Given the description of an element on the screen output the (x, y) to click on. 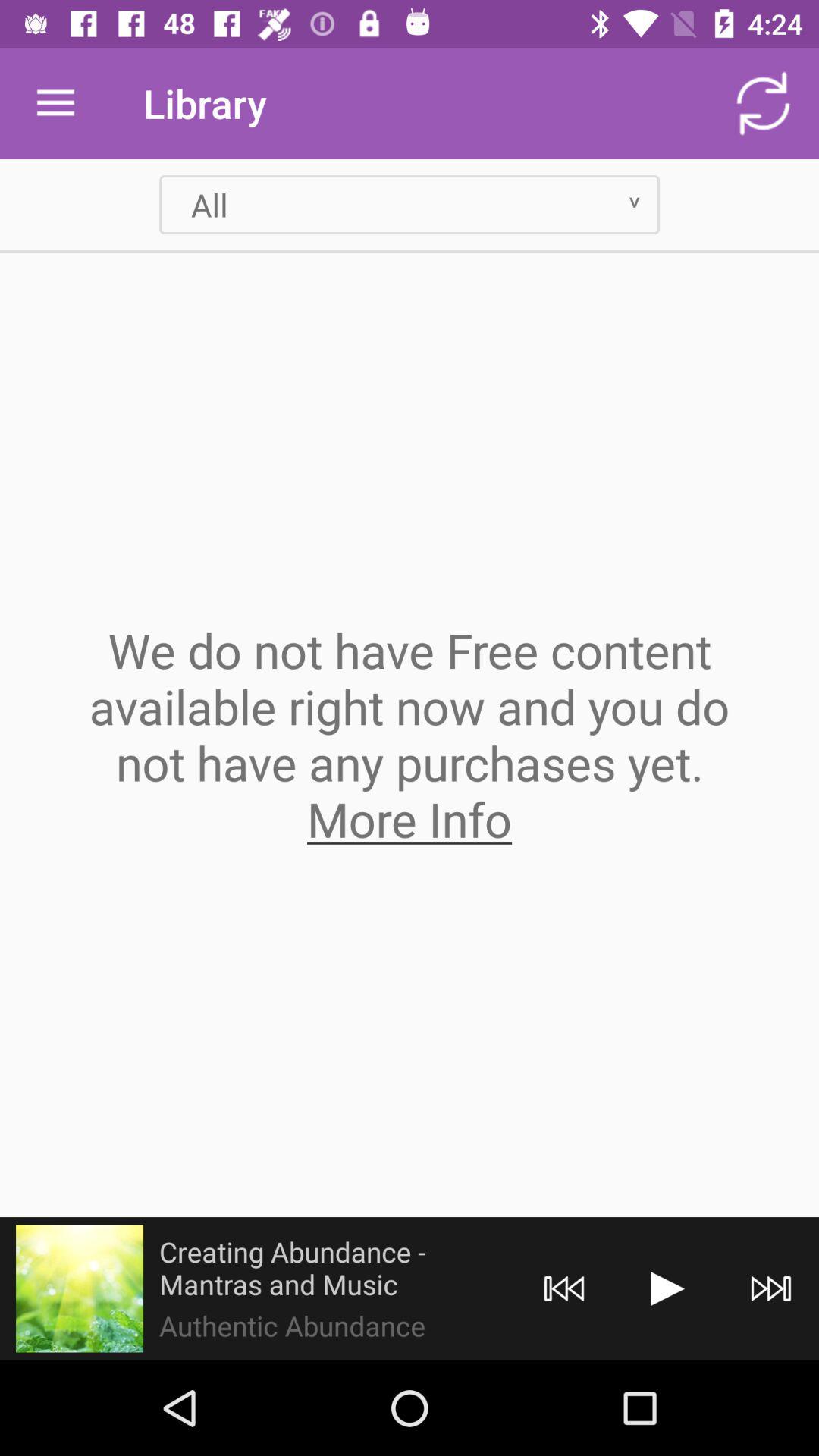
choose the item next to the library icon (763, 103)
